Given the description of an element on the screen output the (x, y) to click on. 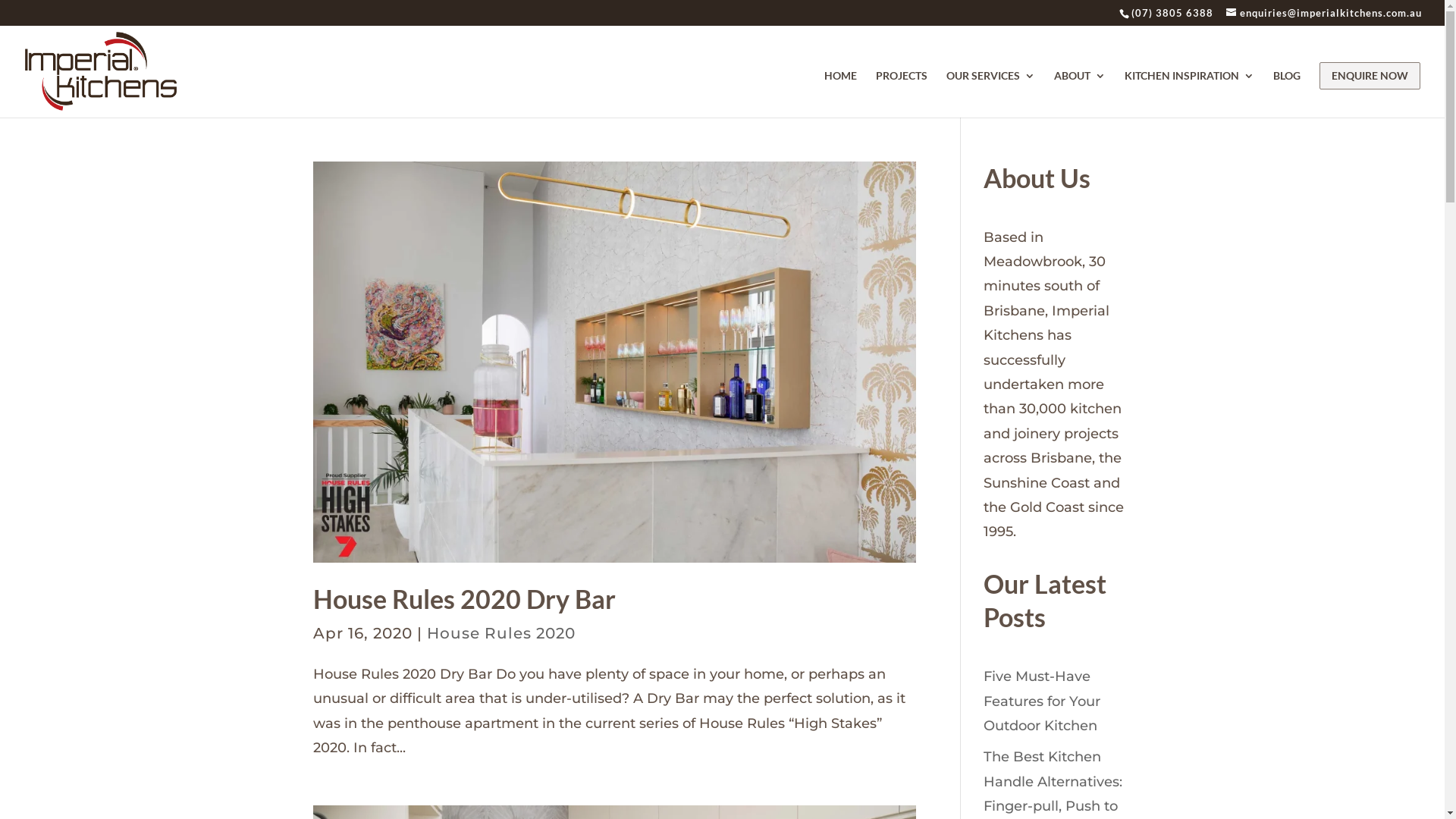
PROJECTS Element type: text (901, 92)
House Rules 2020 Element type: text (500, 633)
HOME Element type: text (840, 92)
KITCHEN INSPIRATION Element type: text (1189, 92)
House Rules 2020 Dry Bar Element type: text (463, 598)
ENQUIRE NOW Element type: text (1369, 75)
BLOG Element type: text (1286, 92)
ABOUT Element type: text (1079, 92)
enquiries@imperialkitchens.com.au Element type: text (1323, 12)
Five Must-Have Features for Your Outdoor Kitchen Element type: text (1041, 701)
OUR SERVICES Element type: text (990, 92)
(07) 3805 6388 Element type: text (1172, 12)
